Given the description of an element on the screen output the (x, y) to click on. 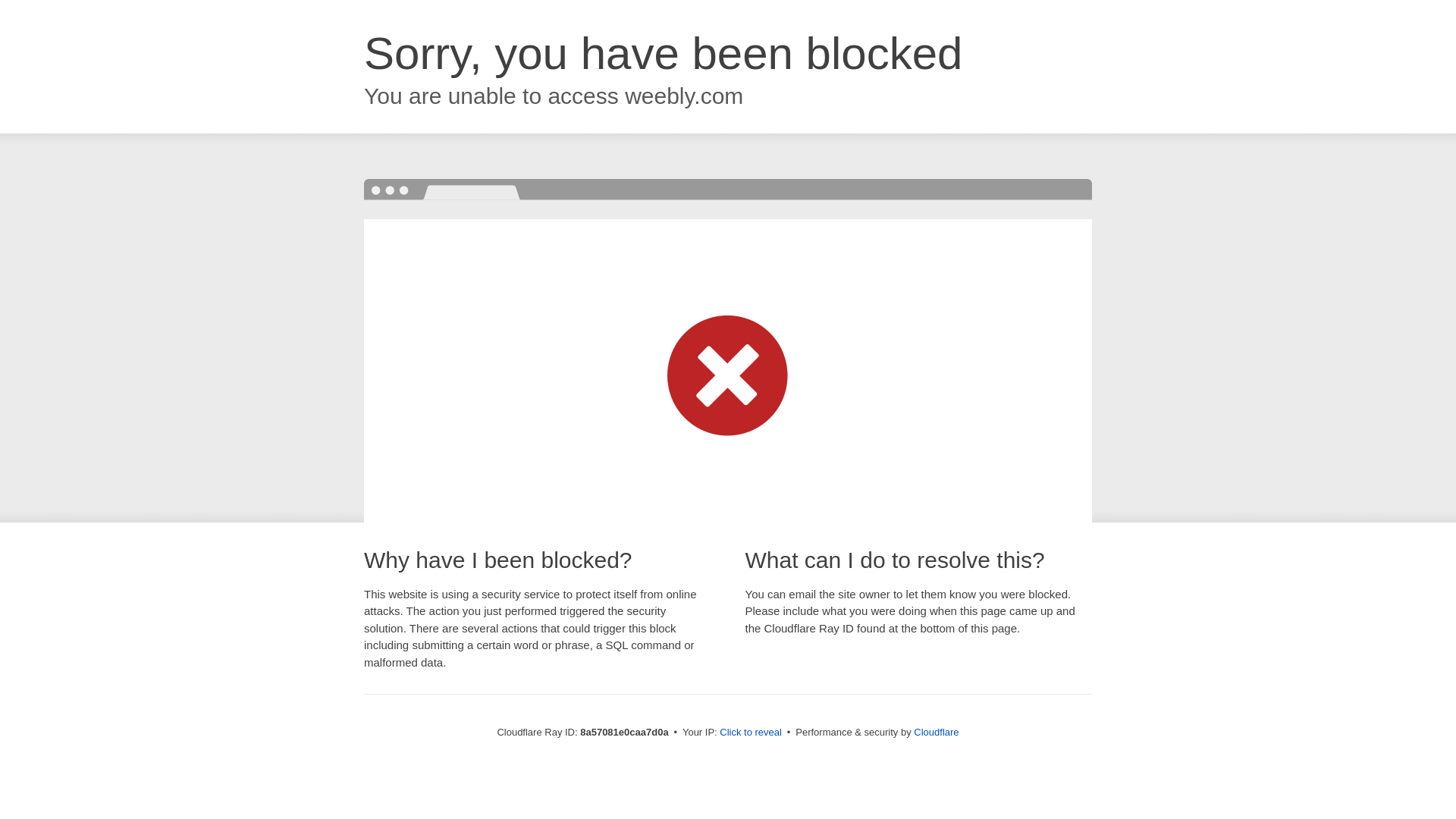
Click to reveal (750, 732)
Cloudflare (936, 731)
